Given the description of an element on the screen output the (x, y) to click on. 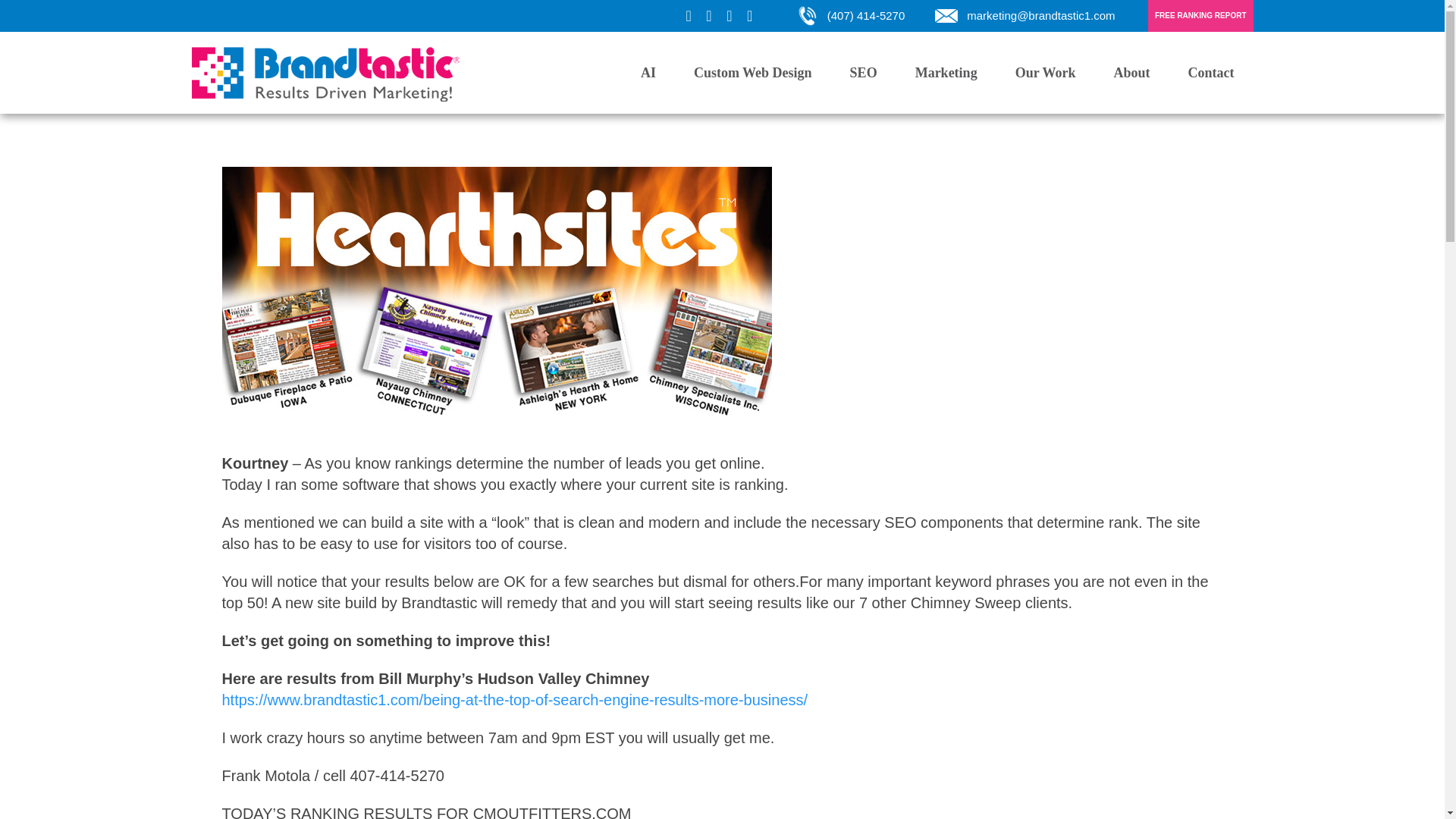
Marketing (945, 72)
Custom Web Design (753, 72)
Contact (1211, 72)
FREE RANKING REPORT (1200, 15)
AI (648, 72)
About (1131, 72)
Our Work (1044, 72)
SEO (863, 72)
